Given the description of an element on the screen output the (x, y) to click on. 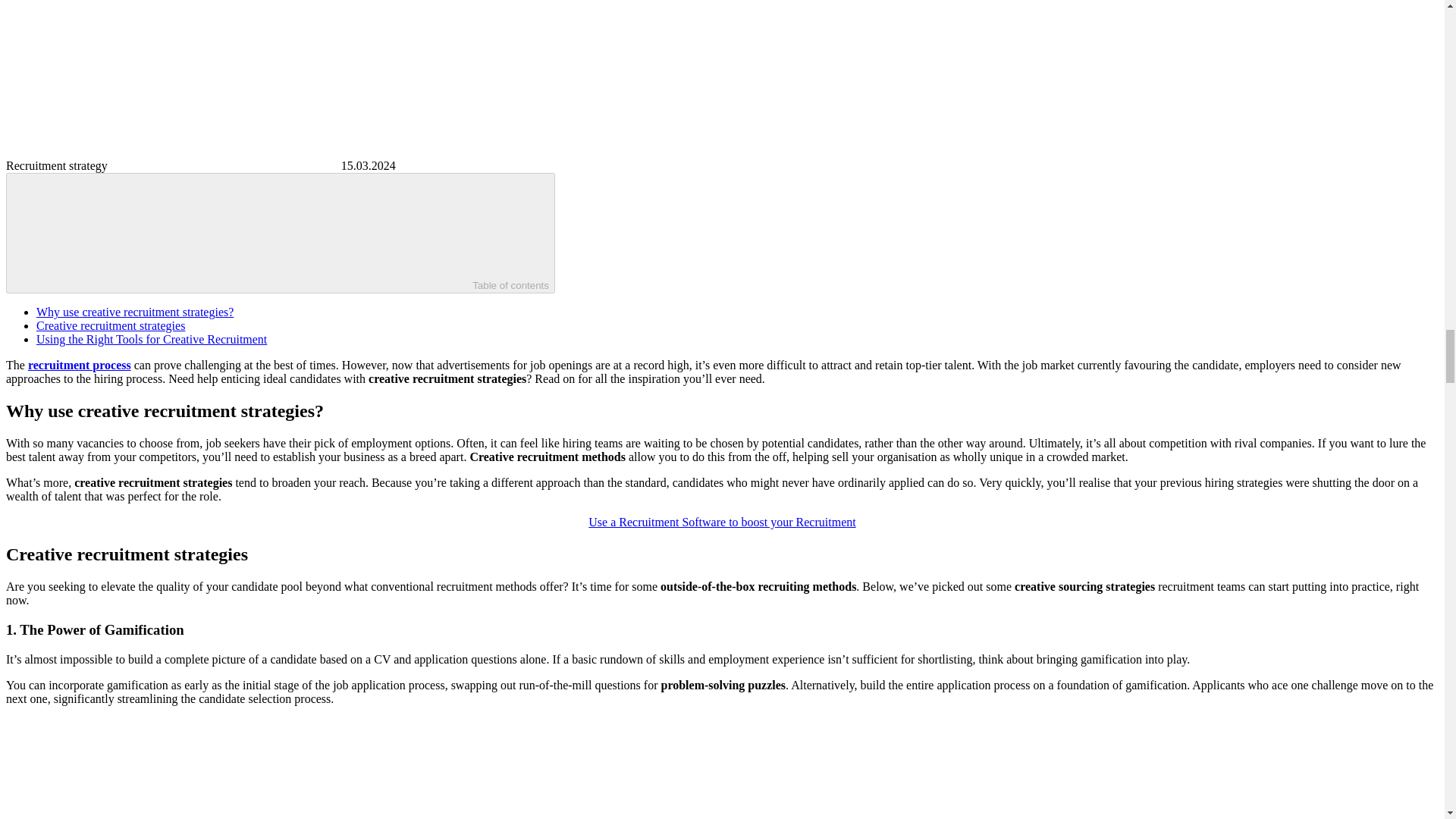
Creative recruitment strategies (110, 325)
Using the Right Tools for Creative Recruitment (151, 338)
ceative-recruitment-strategies (721, 20)
Why use creative recruitment strategies? (134, 311)
